Given the description of an element on the screen output the (x, y) to click on. 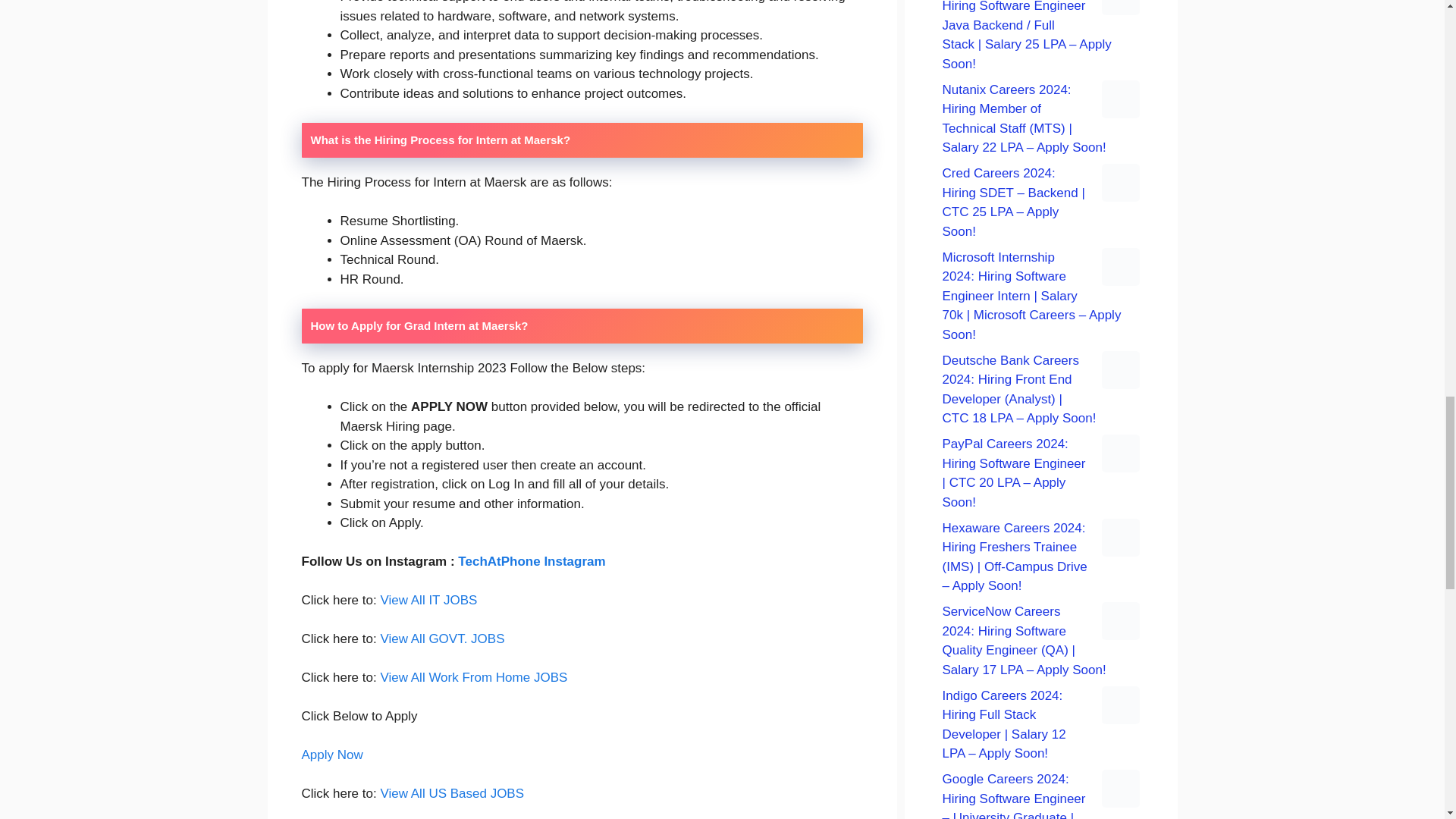
View All IT JOBS (428, 599)
Apply Now (331, 754)
View All Work From Home JOBS (473, 677)
View All US Based JOBS (452, 793)
TechAtPhone Instagram (531, 561)
View All GOVT. JOBS (441, 638)
